Given the description of an element on the screen output the (x, y) to click on. 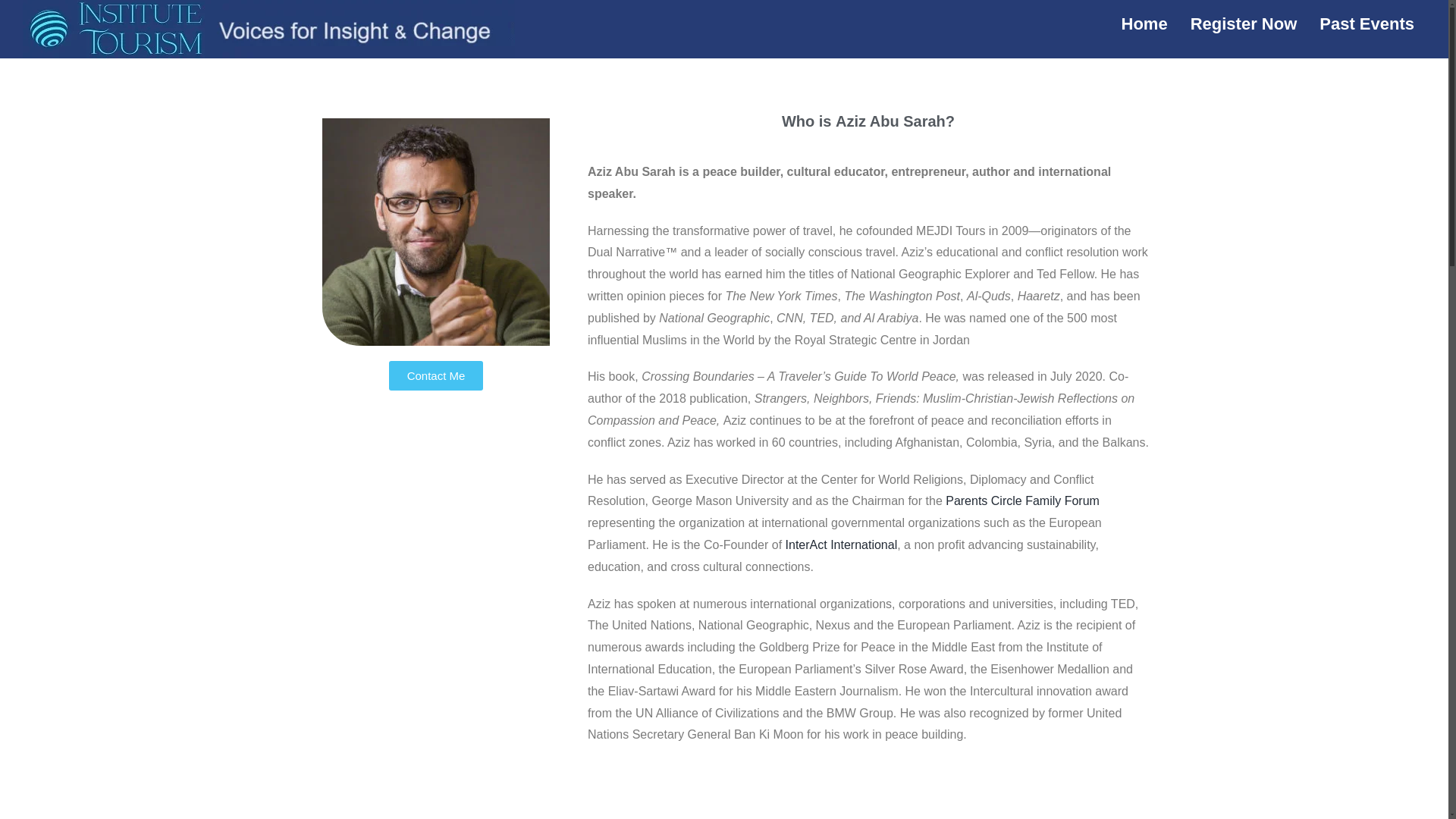
Register Now (1243, 24)
Past Events (1366, 24)
Parents Circle Family Forum (1021, 500)
Contact Me (435, 375)
Home (1144, 24)
InterAct International (842, 544)
